Given the description of an element on the screen output the (x, y) to click on. 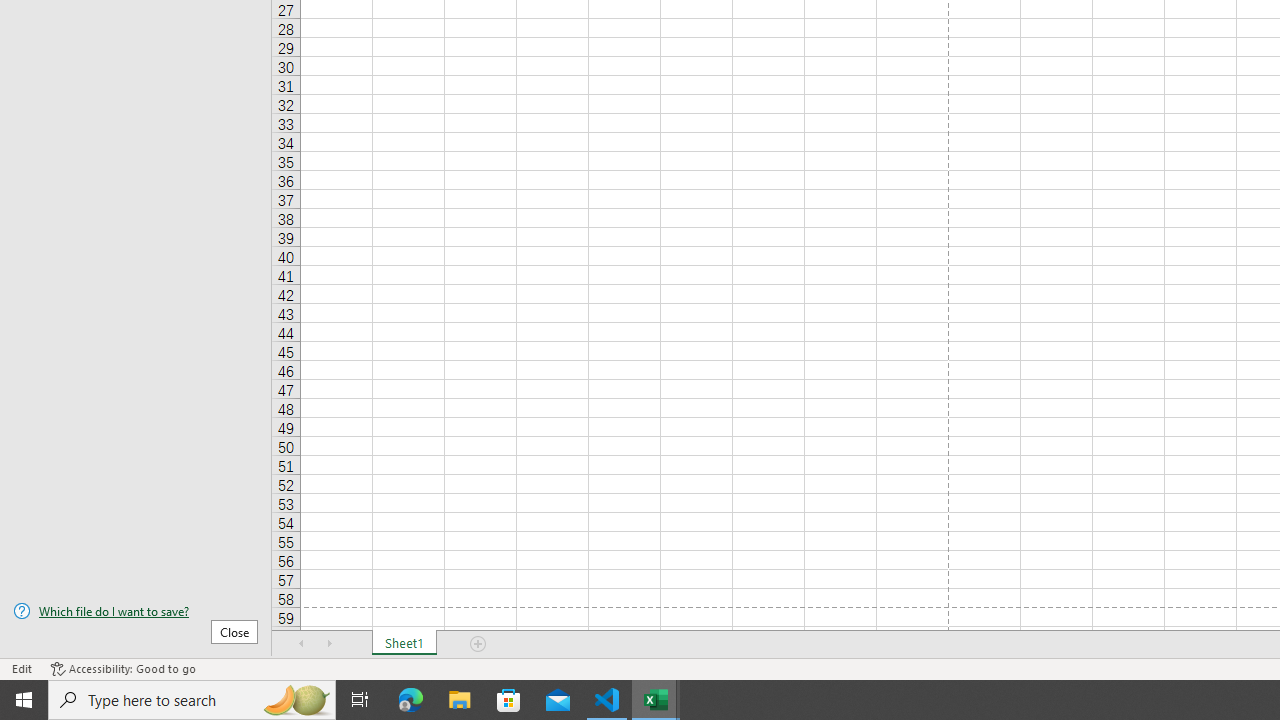
Close (234, 631)
Scroll Right (330, 644)
Add Sheet (478, 644)
Accessibility Checker Accessibility: Good to go (123, 668)
Scroll Left (302, 644)
Which file do I want to save? (136, 611)
Sheet1 (404, 644)
